Given the description of an element on the screen output the (x, y) to click on. 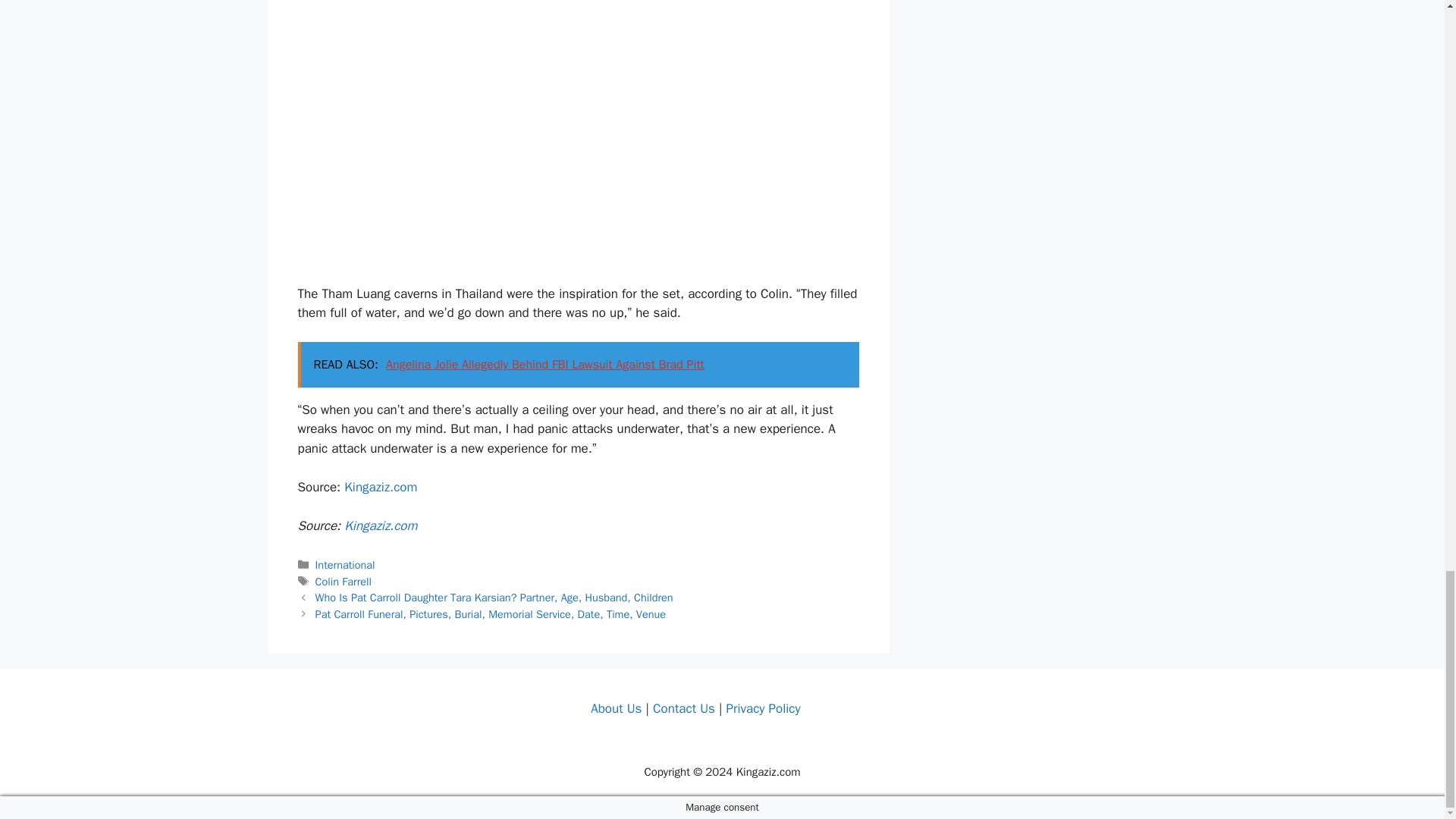
Kingaziz.com (379, 525)
Privacy Policy (762, 708)
International (345, 564)
Colin Farrell (343, 581)
Contact Us (683, 708)
About Us (616, 708)
Kingaziz.com (379, 487)
